Given the description of an element on the screen output the (x, y) to click on. 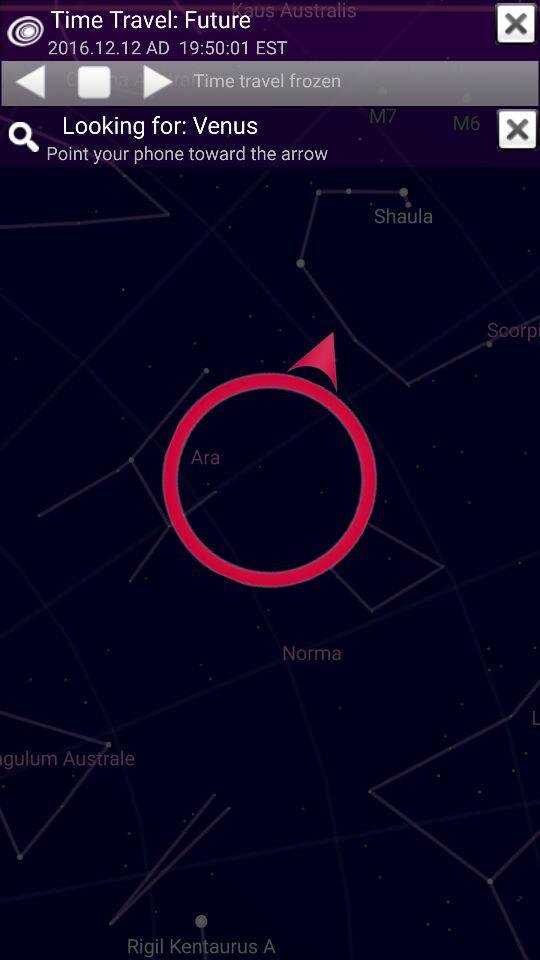
go to play option (94, 83)
